Given the description of an element on the screen output the (x, y) to click on. 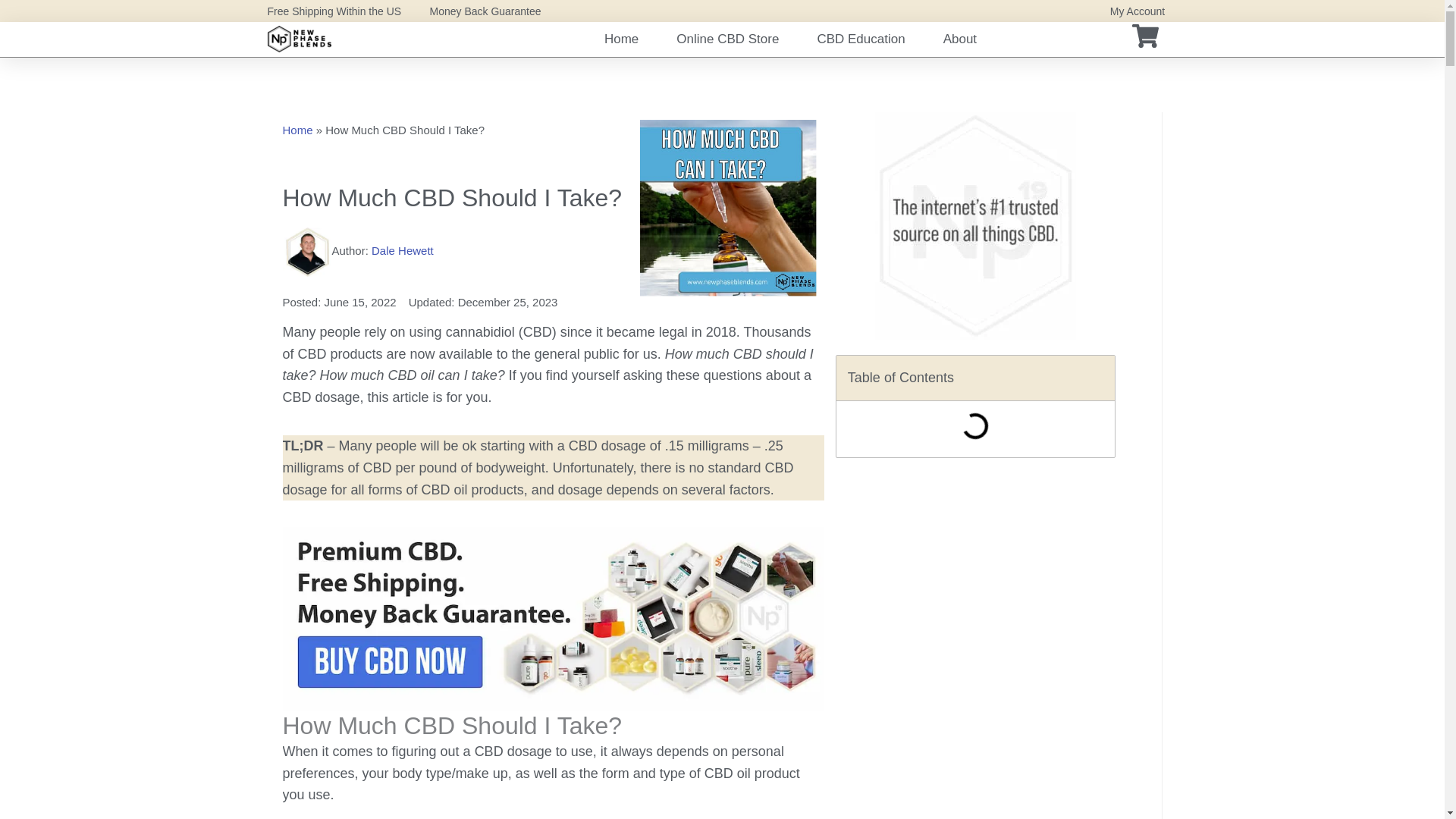
About (959, 39)
Online CBD Store (727, 39)
CBD Education (860, 39)
My Account (1136, 10)
Home (621, 39)
How Much Cbd Should I Take? 1 (553, 618)
